Given the description of an element on the screen output the (x, y) to click on. 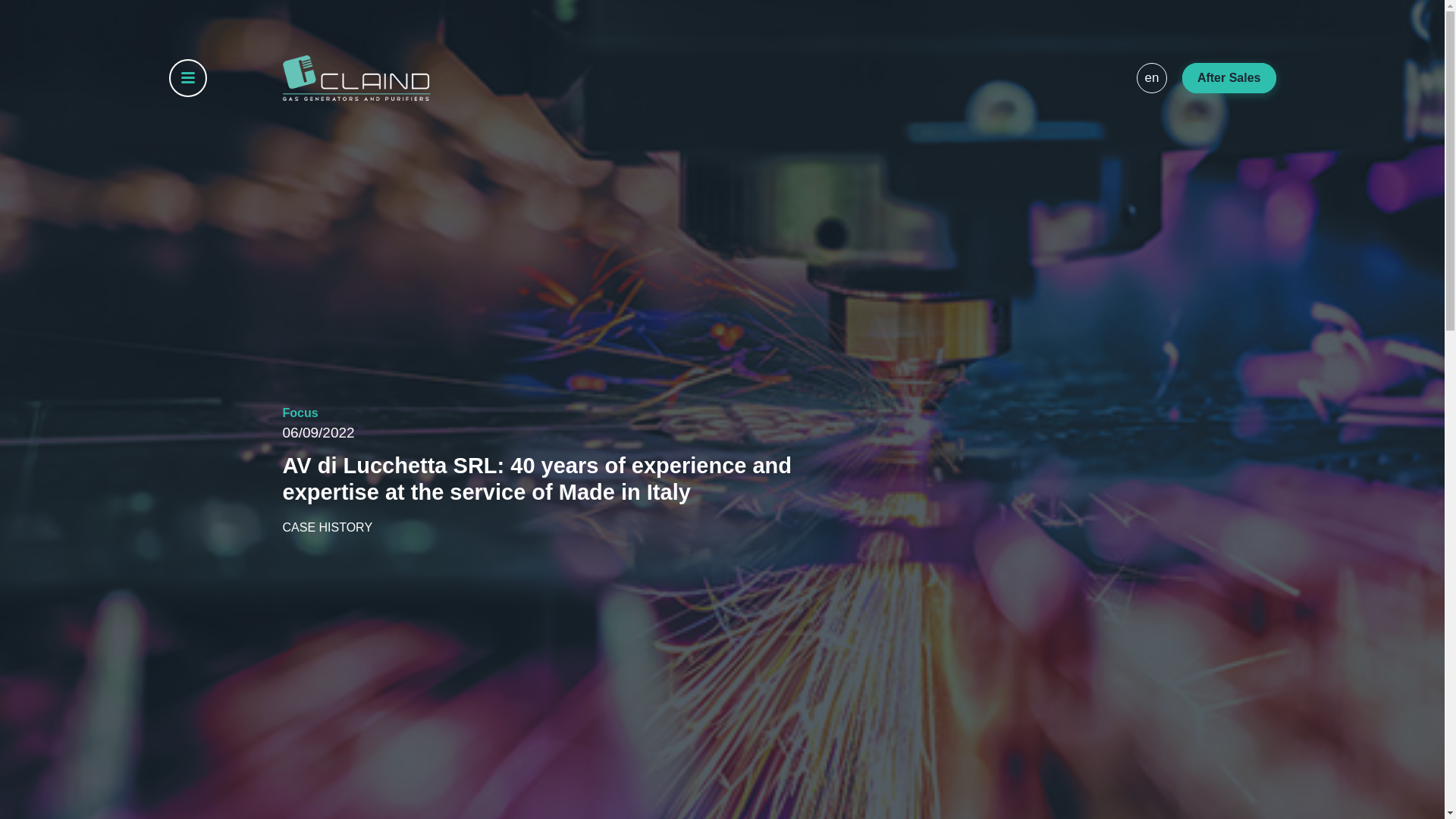
Focus (299, 412)
After Sales (1229, 77)
en (1152, 77)
